Given the description of an element on the screen output the (x, y) to click on. 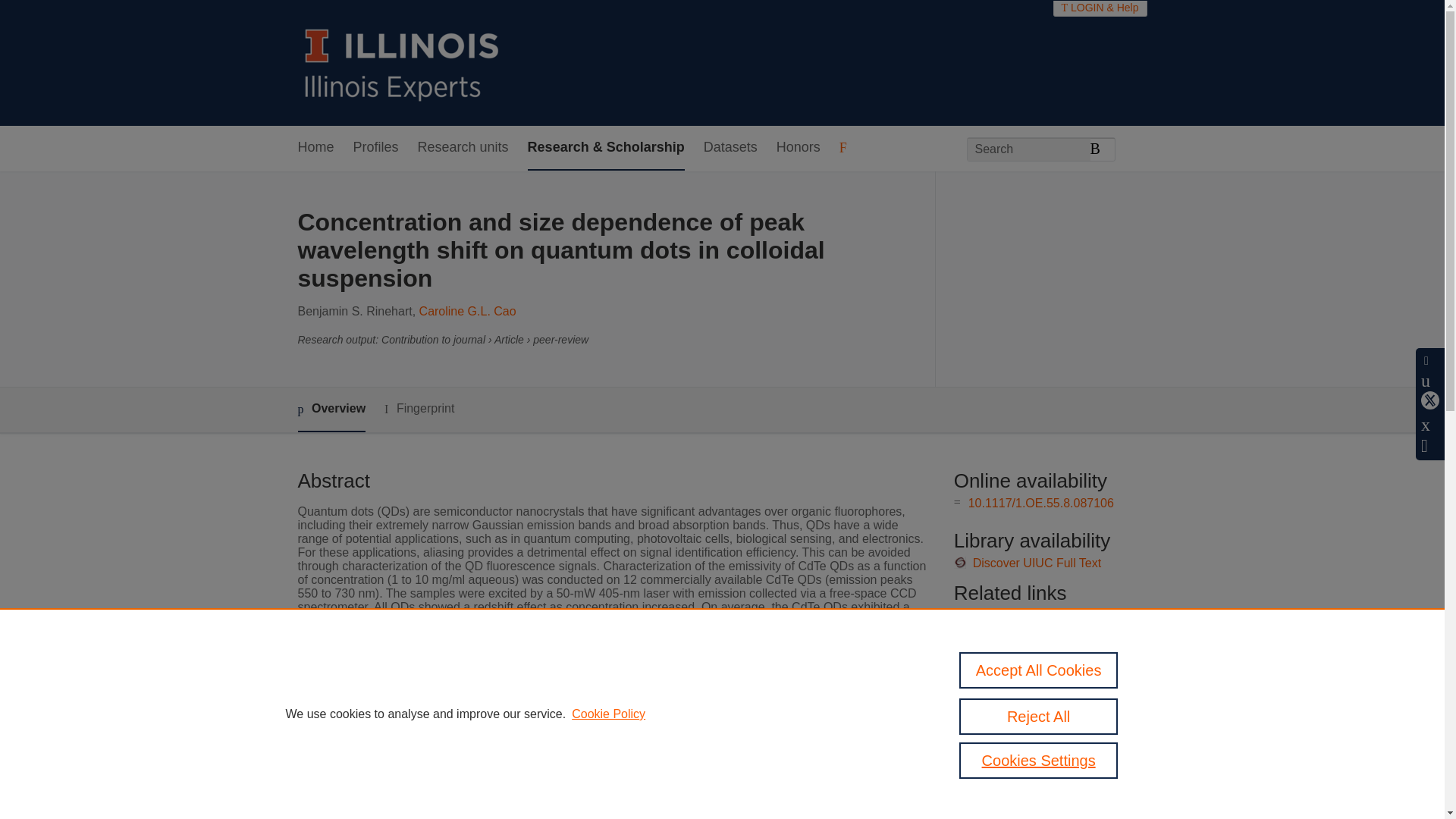
Fingerprint (419, 408)
Datasets (730, 148)
University of Illinois Urbana-Champaign Home (402, 62)
Profiles (375, 148)
Caroline G.L. Cao (467, 310)
Optical Engineering (562, 721)
Overview (331, 409)
Link to the citations in Scopus (1048, 640)
Research units (462, 148)
Discover UIUC Full Text (1037, 562)
Honors (798, 148)
Link to publication in Scopus (1045, 615)
